Given the description of an element on the screen output the (x, y) to click on. 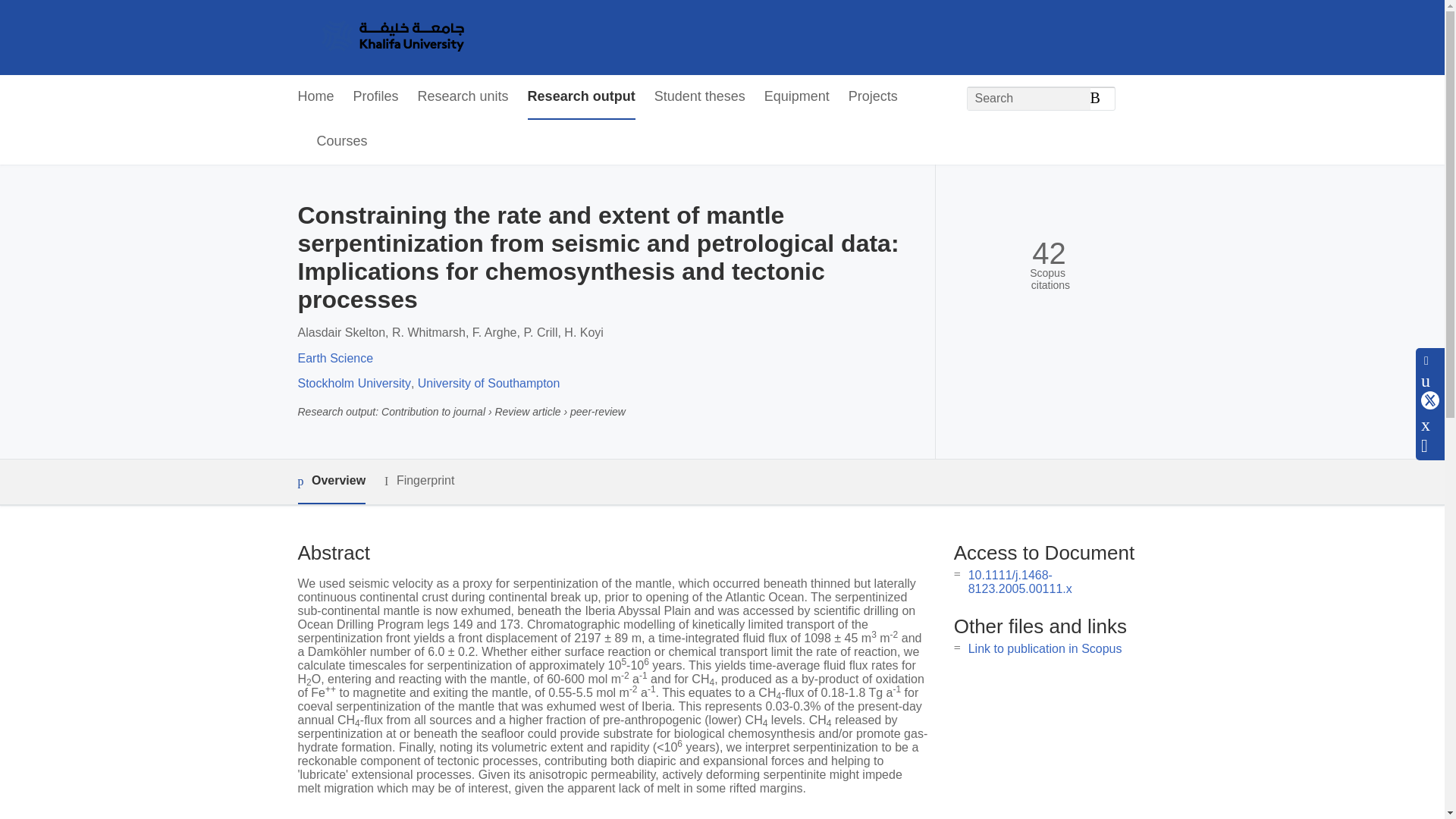
University of Southampton (488, 382)
Courses (342, 141)
Profiles (375, 97)
Projects (873, 97)
Equipment (796, 97)
Student theses (699, 97)
Research units (462, 97)
Link to publication in Scopus (1045, 648)
Overview (331, 481)
